Given the description of an element on the screen output the (x, y) to click on. 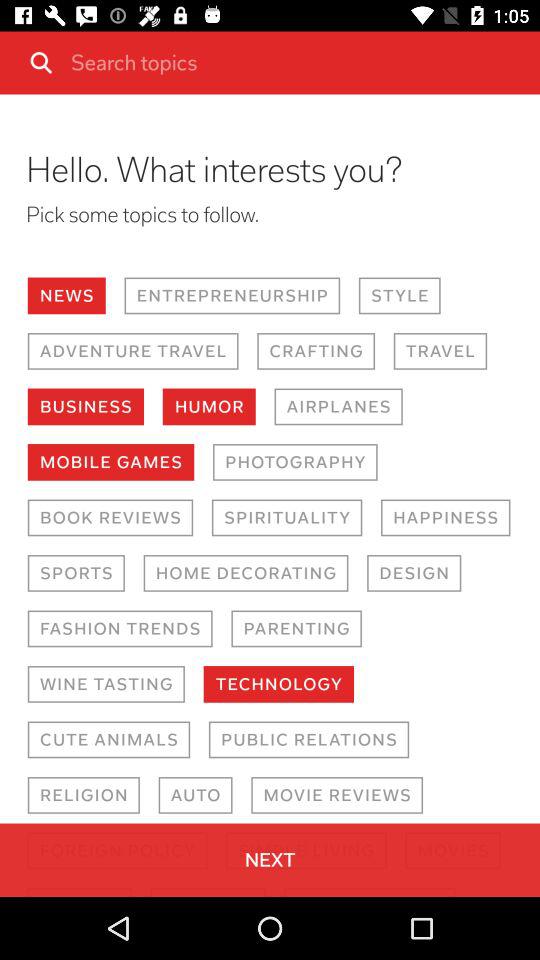
open the item above the fashion trends icon (75, 573)
